Given the description of an element on the screen output the (x, y) to click on. 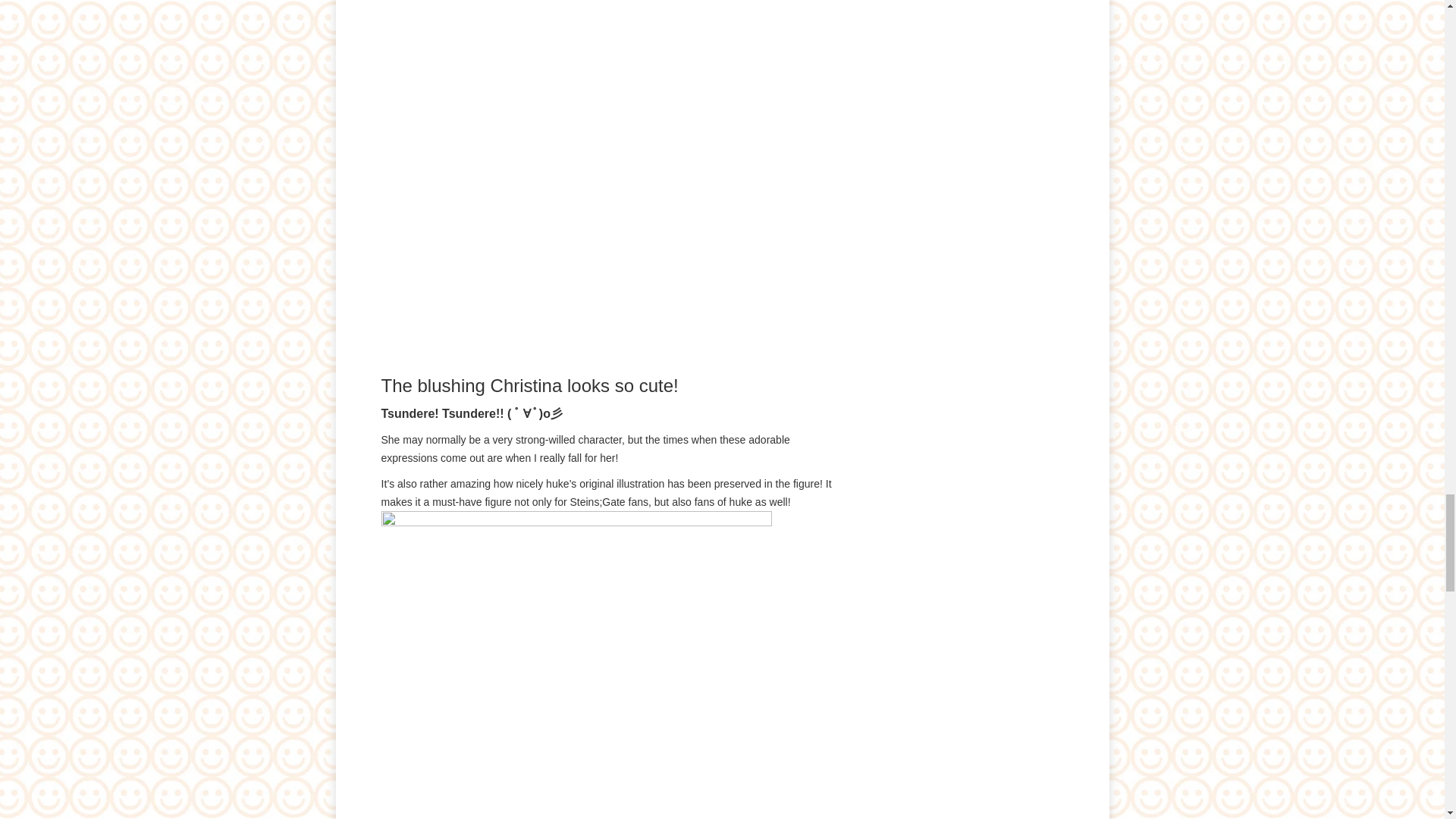
006 (575, 665)
